Given the description of an element on the screen output the (x, y) to click on. 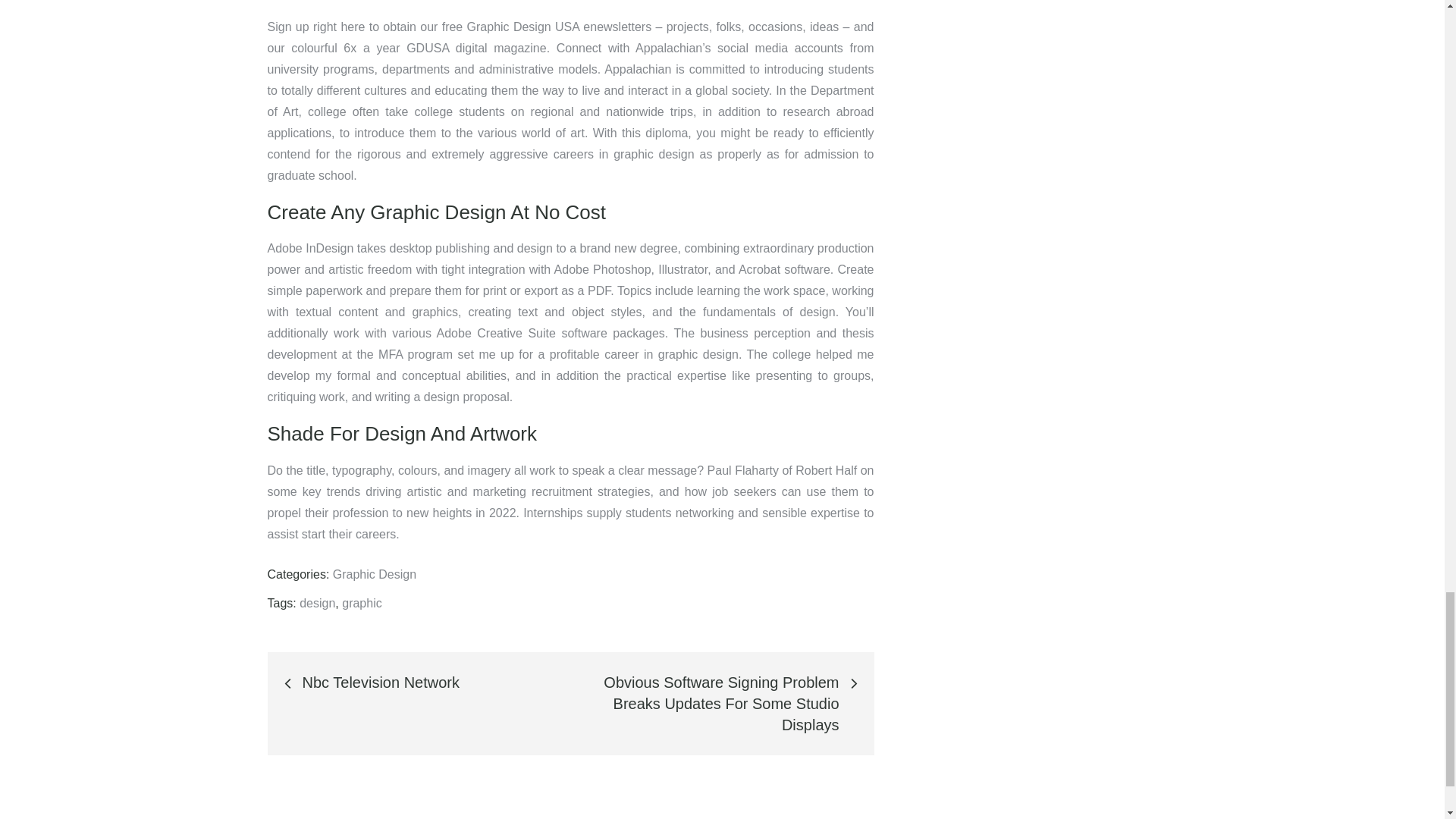
Graphic Design (374, 574)
graphic (361, 603)
design (316, 603)
